Given the description of an element on the screen output the (x, y) to click on. 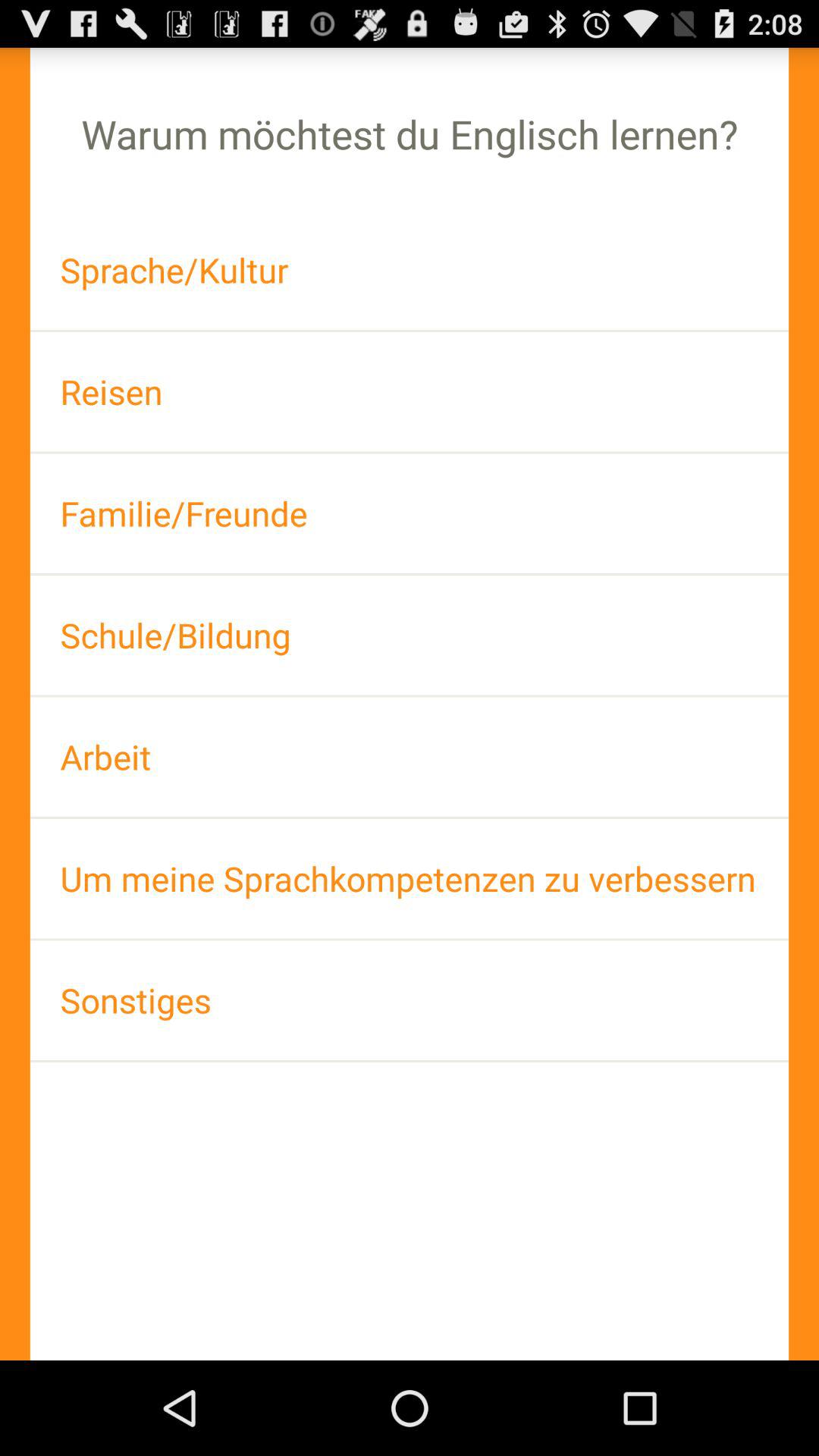
launch the sonstiges icon (409, 1000)
